Given the description of an element on the screen output the (x, y) to click on. 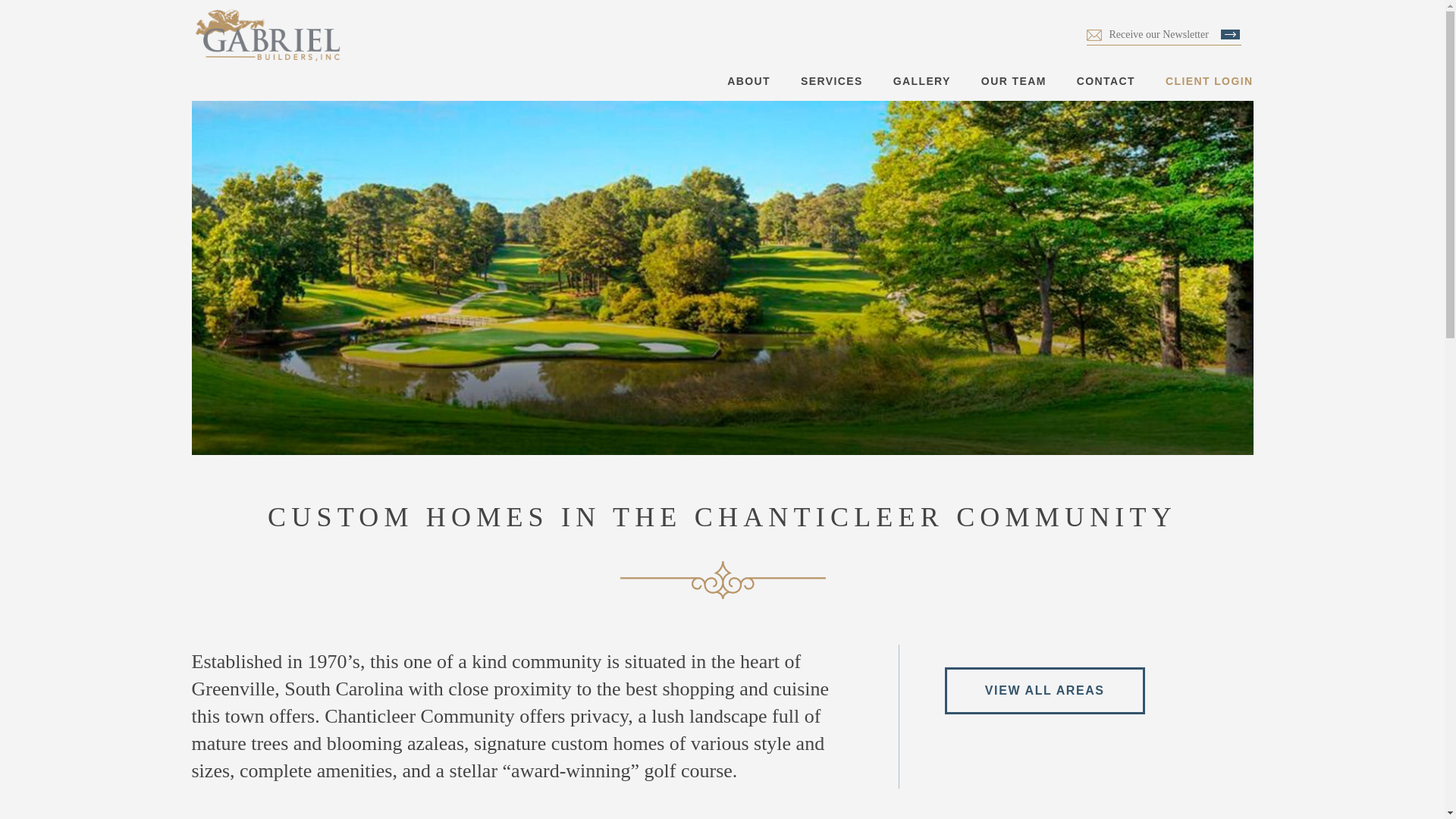
CLIENT LOGIN (1209, 80)
OUR TEAM (1013, 80)
SERVICES (831, 80)
CONTACT (1106, 80)
ABOUT (748, 80)
GALLERY (921, 80)
